Given the description of an element on the screen output the (x, y) to click on. 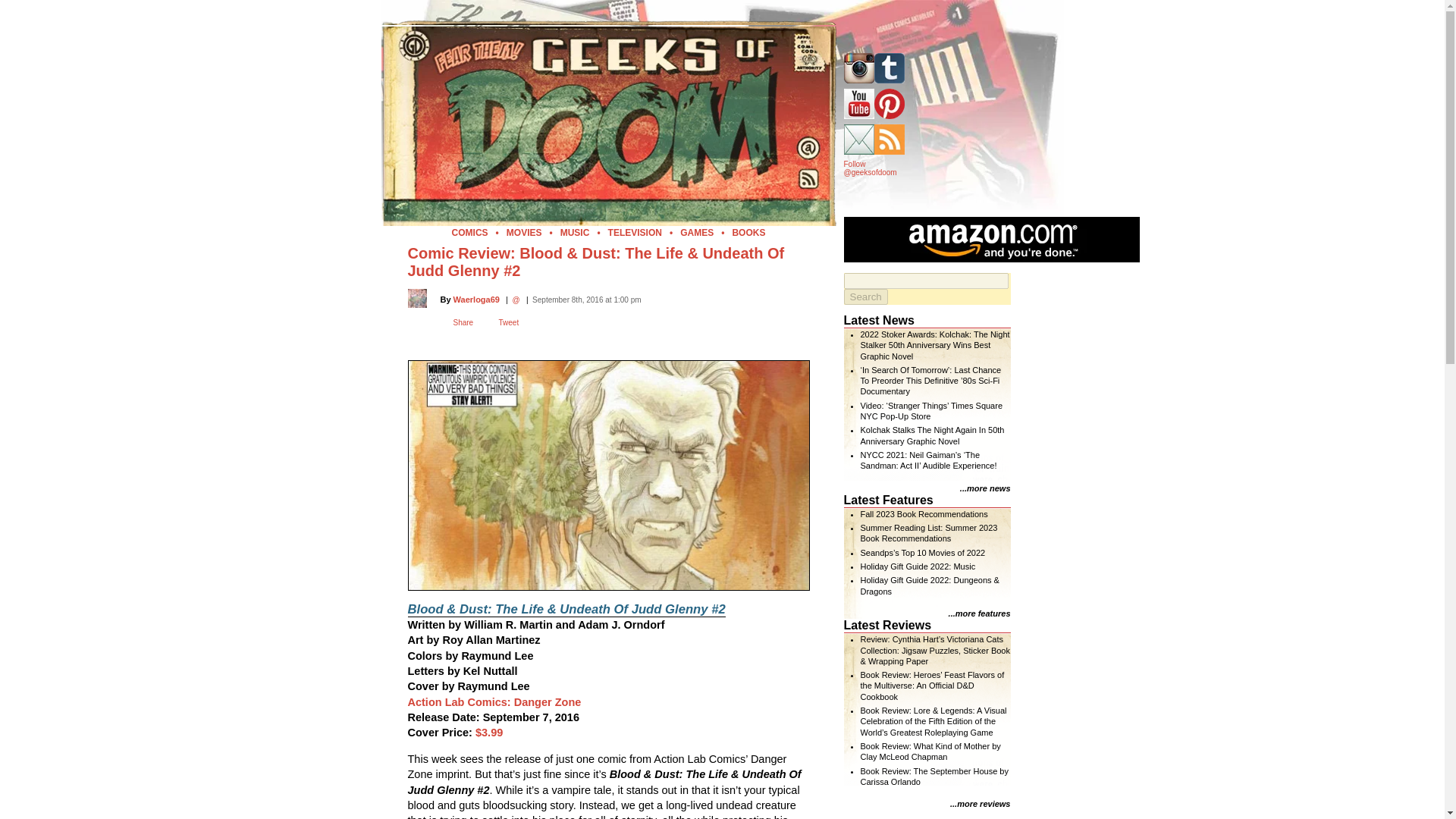
Follow Geeks of Doom on Tumblr (888, 68)
Share (463, 322)
Waerloga69 (475, 298)
Facebook like button (426, 330)
MUSIC (574, 232)
GAMES (696, 232)
Action Lab Comics: Danger Zone (493, 702)
View Waerloga69's profile (475, 298)
Search (864, 296)
Action Lab Comics: Danger Zone (493, 702)
